Given the description of an element on the screen output the (x, y) to click on. 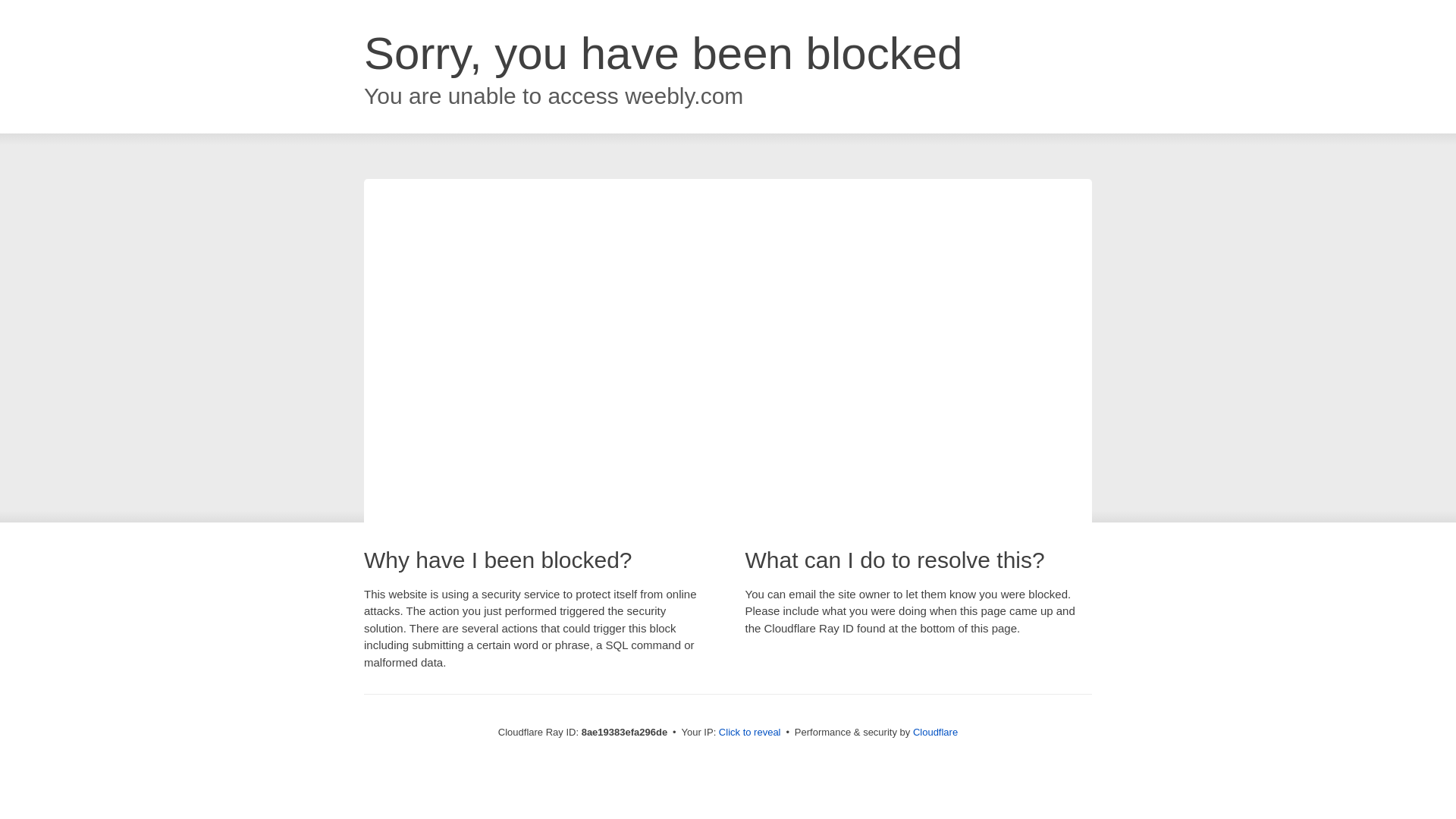
Cloudflare (935, 731)
Click to reveal (749, 732)
